Given the description of an element on the screen output the (x, y) to click on. 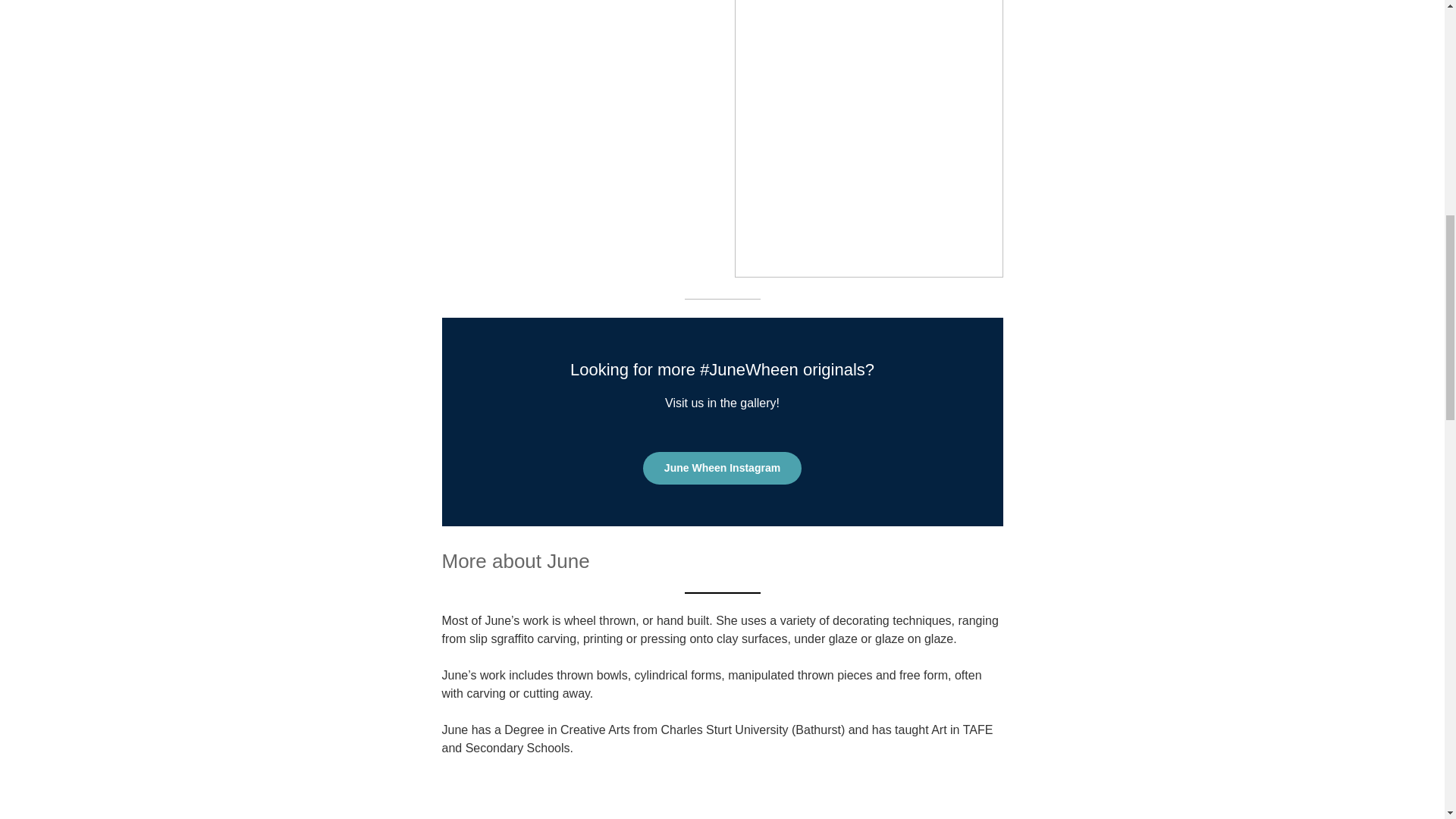
June Wheen Instagram (722, 468)
